Given the description of an element on the screen output the (x, y) to click on. 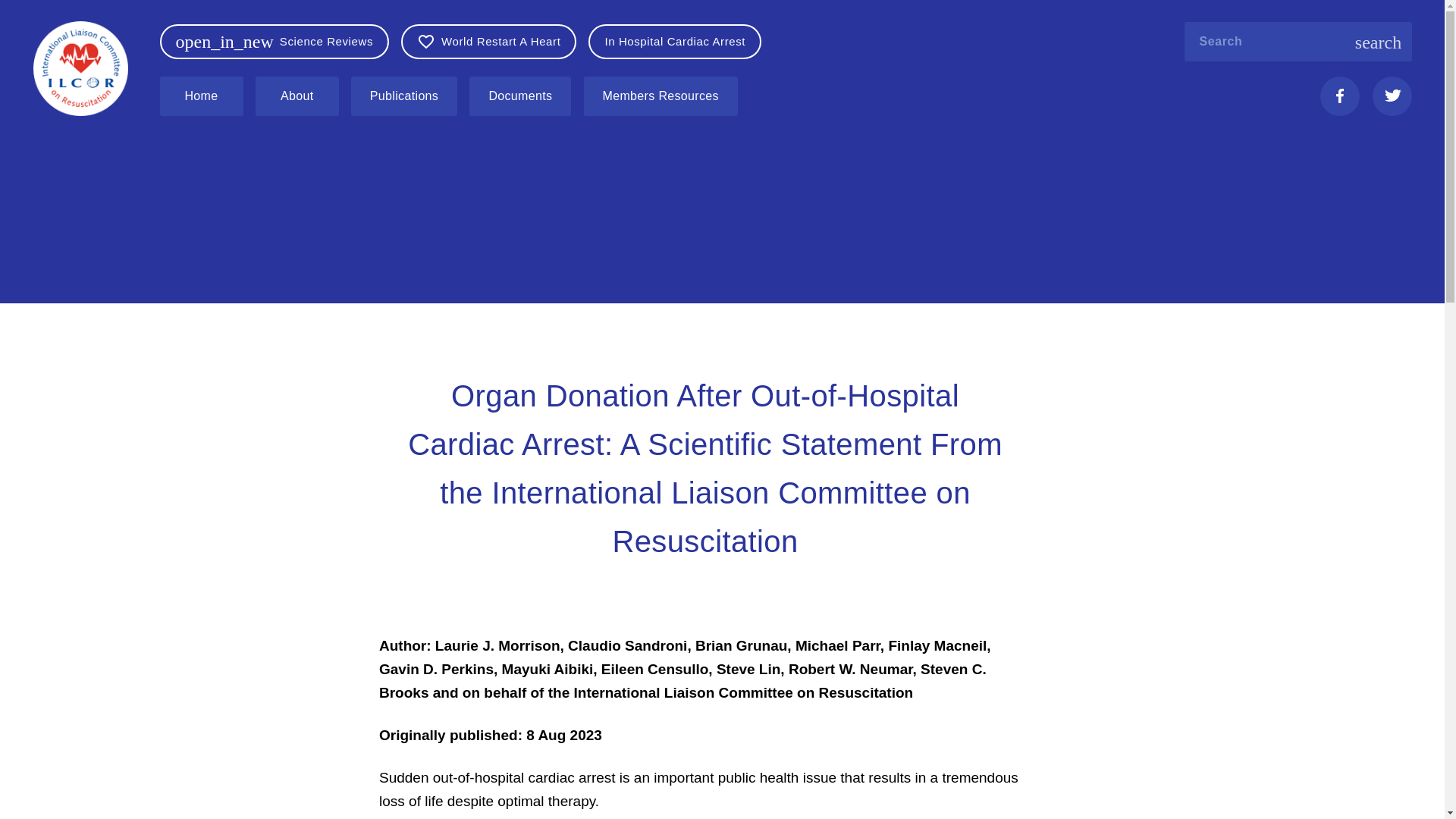
Icon Created with Sketch. (1392, 95)
search (1378, 41)
Home (200, 96)
Icon Created with Sketch. (1339, 95)
World Restart A Heart (494, 41)
Publications (407, 95)
World Restart A Heart (488, 41)
About (297, 96)
Publications (403, 96)
About (301, 95)
Home (204, 95)
Documents (523, 95)
In Hospital Cardiac Arrest (680, 41)
In Hospital Cardiac Arrest (674, 41)
